Given the description of an element on the screen output the (x, y) to click on. 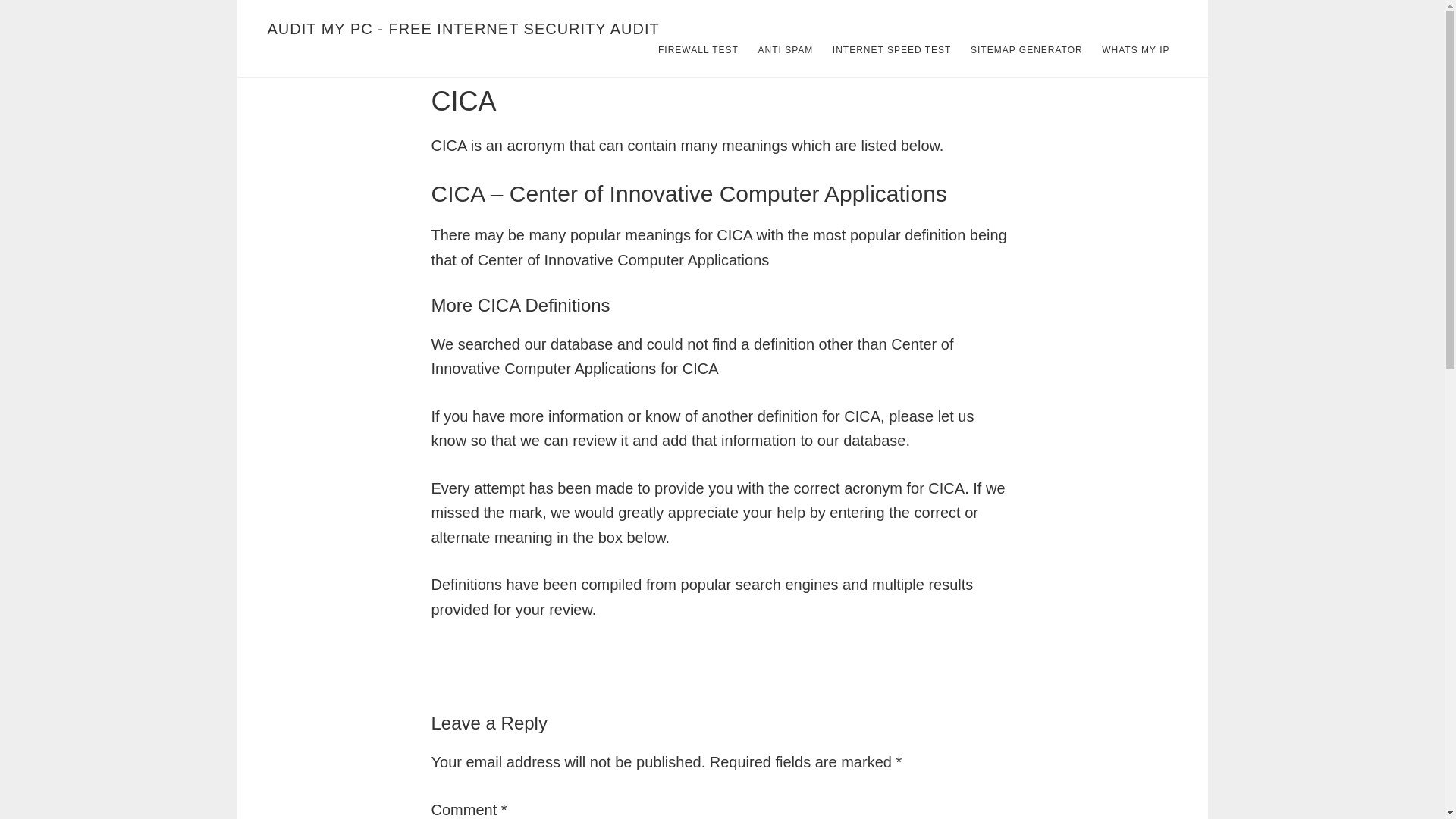
SITEMAP GENERATOR (1026, 49)
ANTI SPAM (785, 49)
AUDIT MY PC - FREE INTERNET SECURITY AUDIT (462, 28)
WHATS MY IP (1135, 49)
FIREWALL TEST (697, 49)
INTERNET SPEED TEST (892, 49)
